Given the description of an element on the screen output the (x, y) to click on. 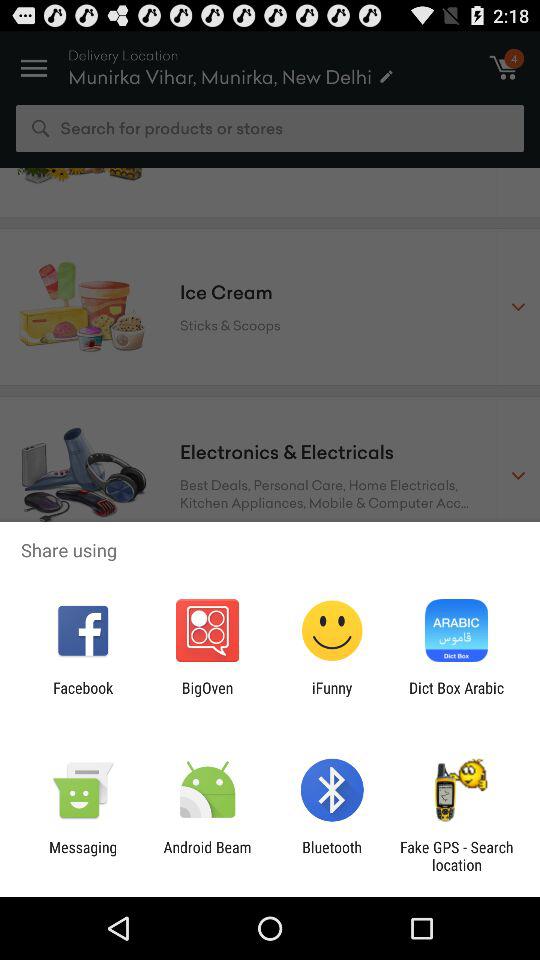
tap icon next to the bluetooth app (207, 856)
